Given the description of an element on the screen output the (x, y) to click on. 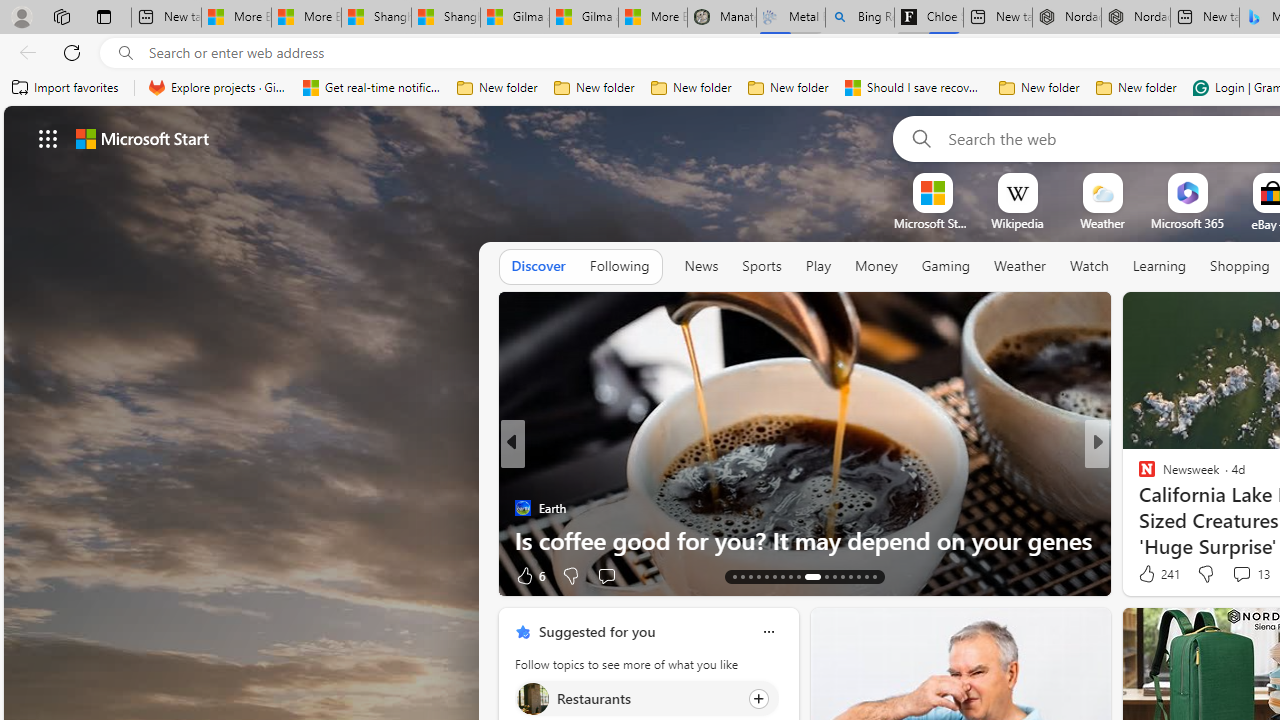
Weather (1020, 265)
Wikipedia (1017, 223)
AutomationID: tab-19 (782, 576)
Start the conversation (1229, 574)
Nordace (537, 507)
Click to follow topic Restaurants (646, 698)
Following (619, 265)
AutomationID: tab-22 (808, 576)
Tab actions menu (104, 16)
More options (768, 631)
AutomationID: tab-25 (842, 576)
Gaming (945, 267)
2 Like (1145, 574)
View comments 5 Comment (1229, 575)
AutomationID: tab-13 (733, 576)
